Given the description of an element on the screen output the (x, y) to click on. 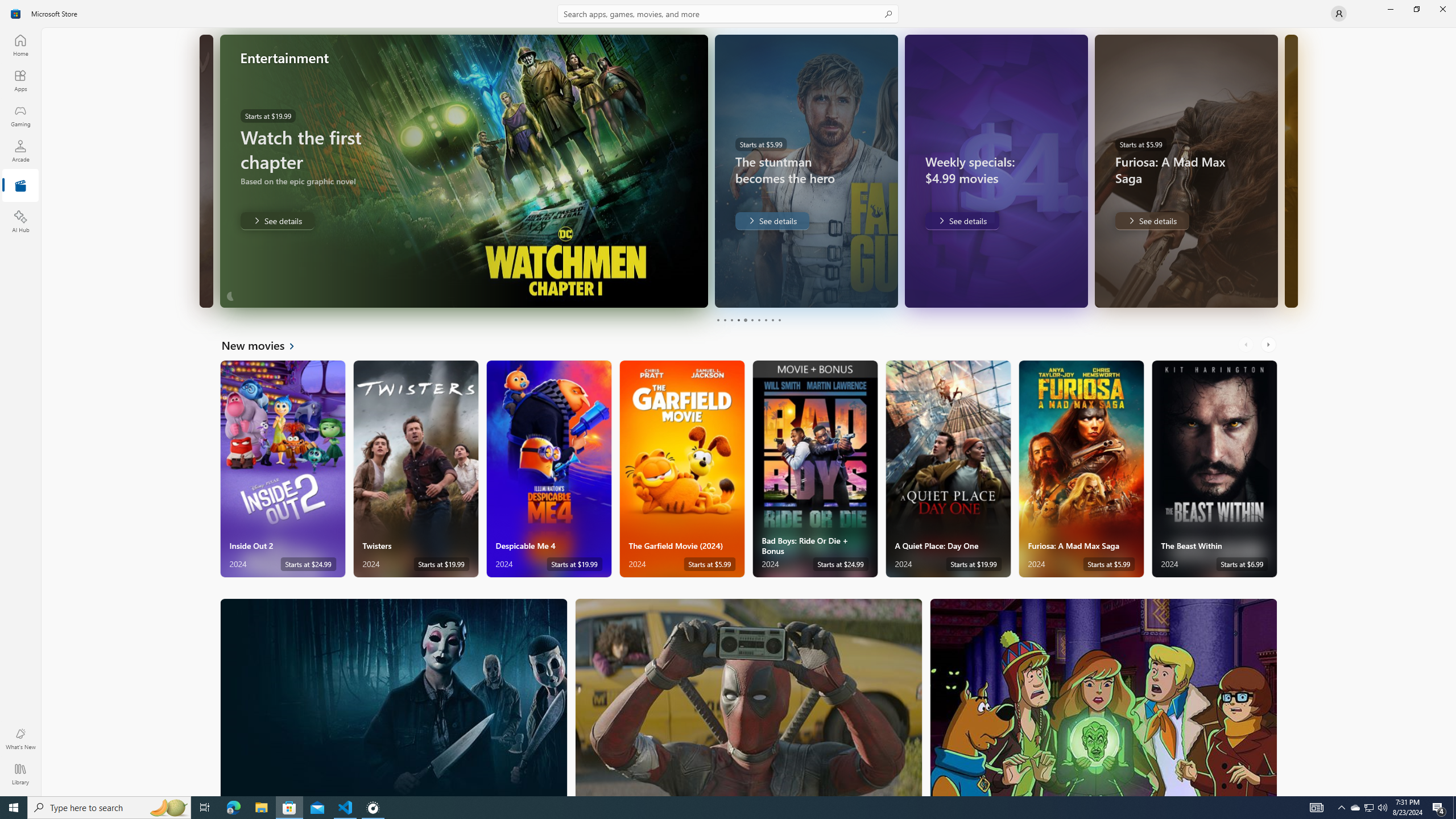
Action & Adventure (749, 697)
